Given the description of an element on the screen output the (x, y) to click on. 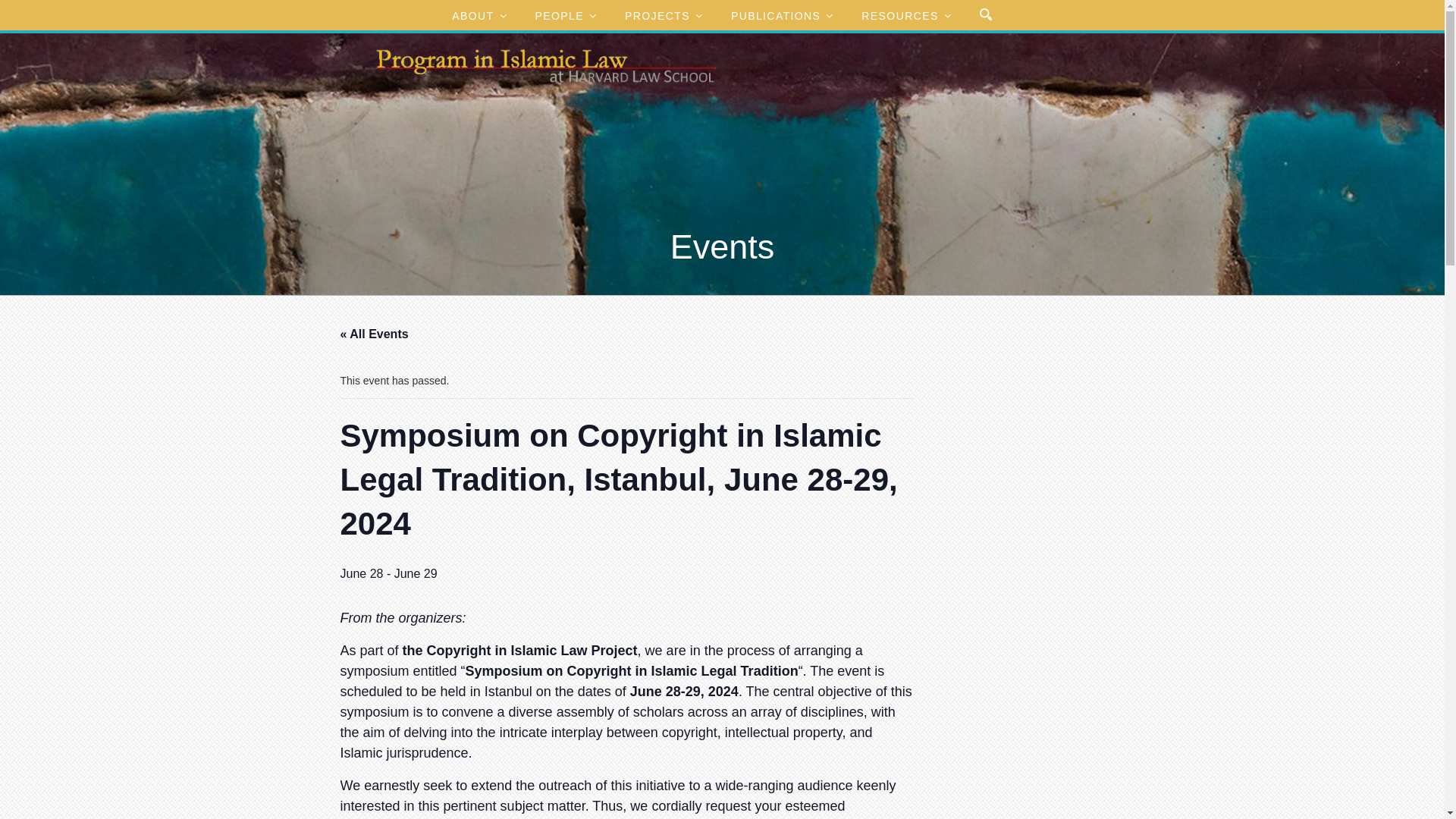
PROJECTS (663, 15)
PEOPLE (564, 15)
RESOURCES (904, 15)
PUBLICATIONS (780, 15)
ABOUT (477, 15)
